Given the description of an element on the screen output the (x, y) to click on. 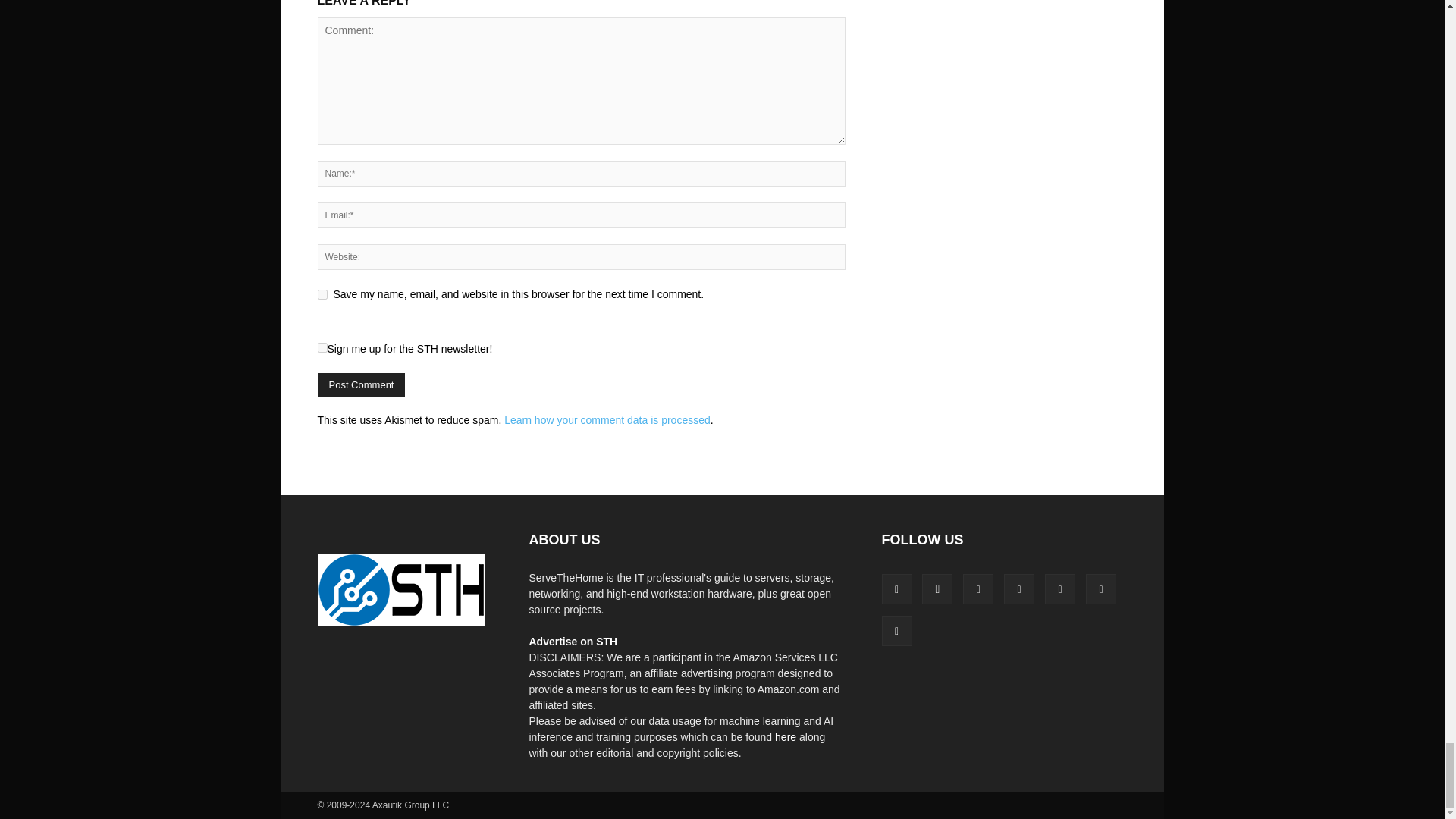
Post Comment (360, 384)
1 (321, 347)
yes (321, 294)
